Given the description of an element on the screen output the (x, y) to click on. 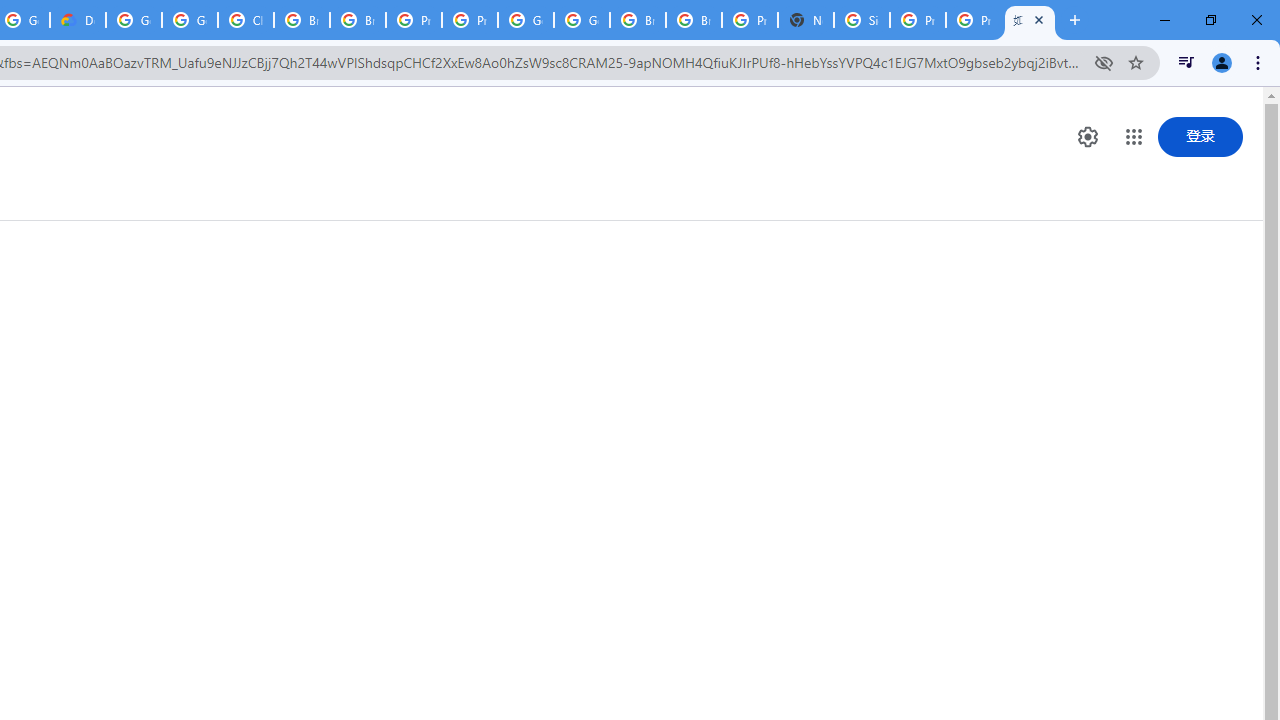
Google Cloud Platform (582, 20)
Sign in - Google Accounts (861, 20)
Google Cloud Platform (525, 20)
Browse Chrome as a guest - Computer - Google Chrome Help (637, 20)
